Given the description of an element on the screen output the (x, y) to click on. 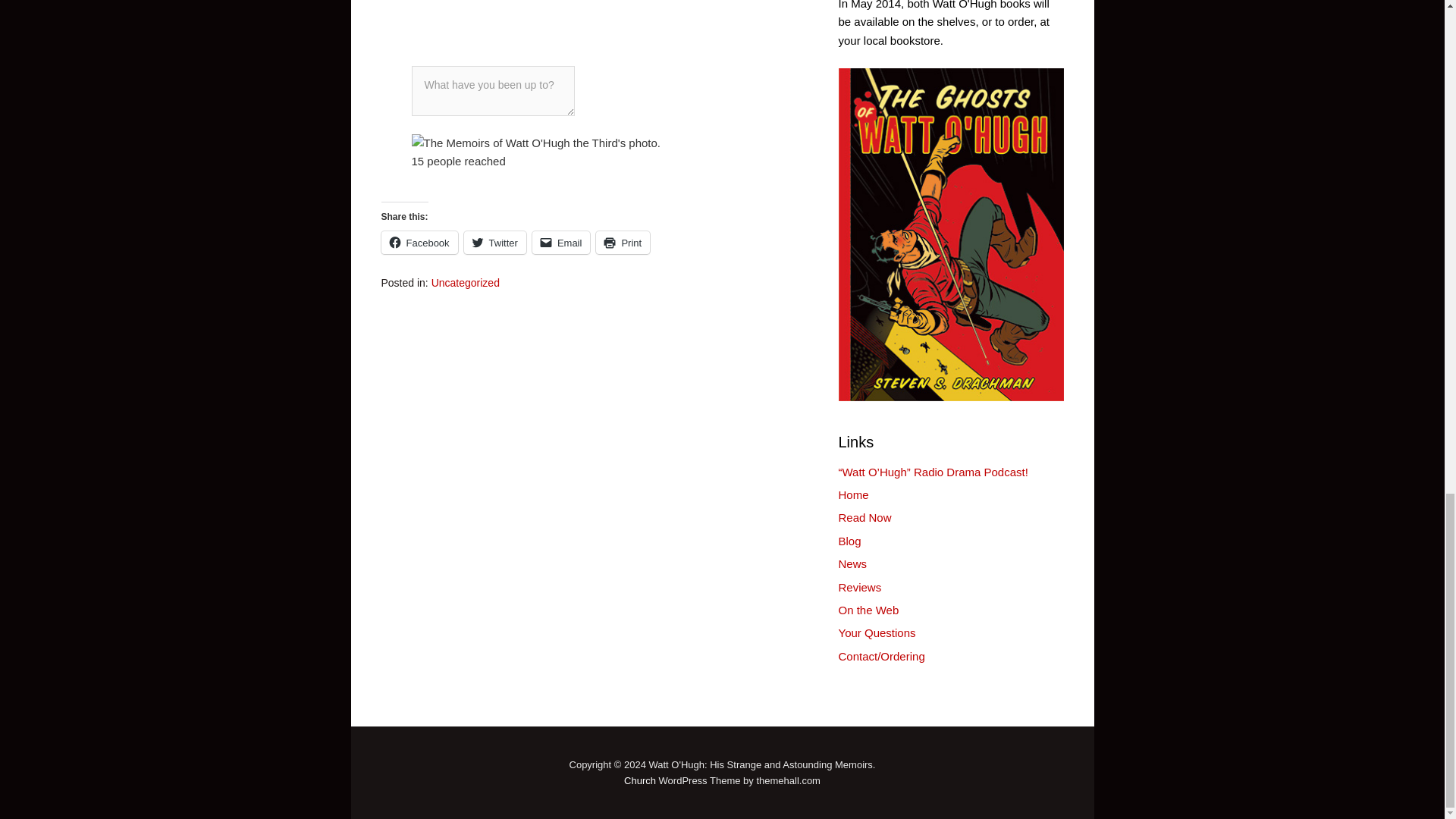
Click to email a link to a friend (561, 241)
Click to share on Twitter (494, 241)
Your Questions (876, 632)
News (852, 563)
Blog (849, 540)
Facebook (418, 241)
What have you been up to? (491, 91)
Church WordPress Theme (640, 780)
Click to share on Facebook (418, 241)
Email (561, 241)
Reviews (860, 586)
Uncategorized (464, 282)
Church (640, 780)
Click to print (622, 241)
Twitter (494, 241)
